Given the description of an element on the screen output the (x, y) to click on. 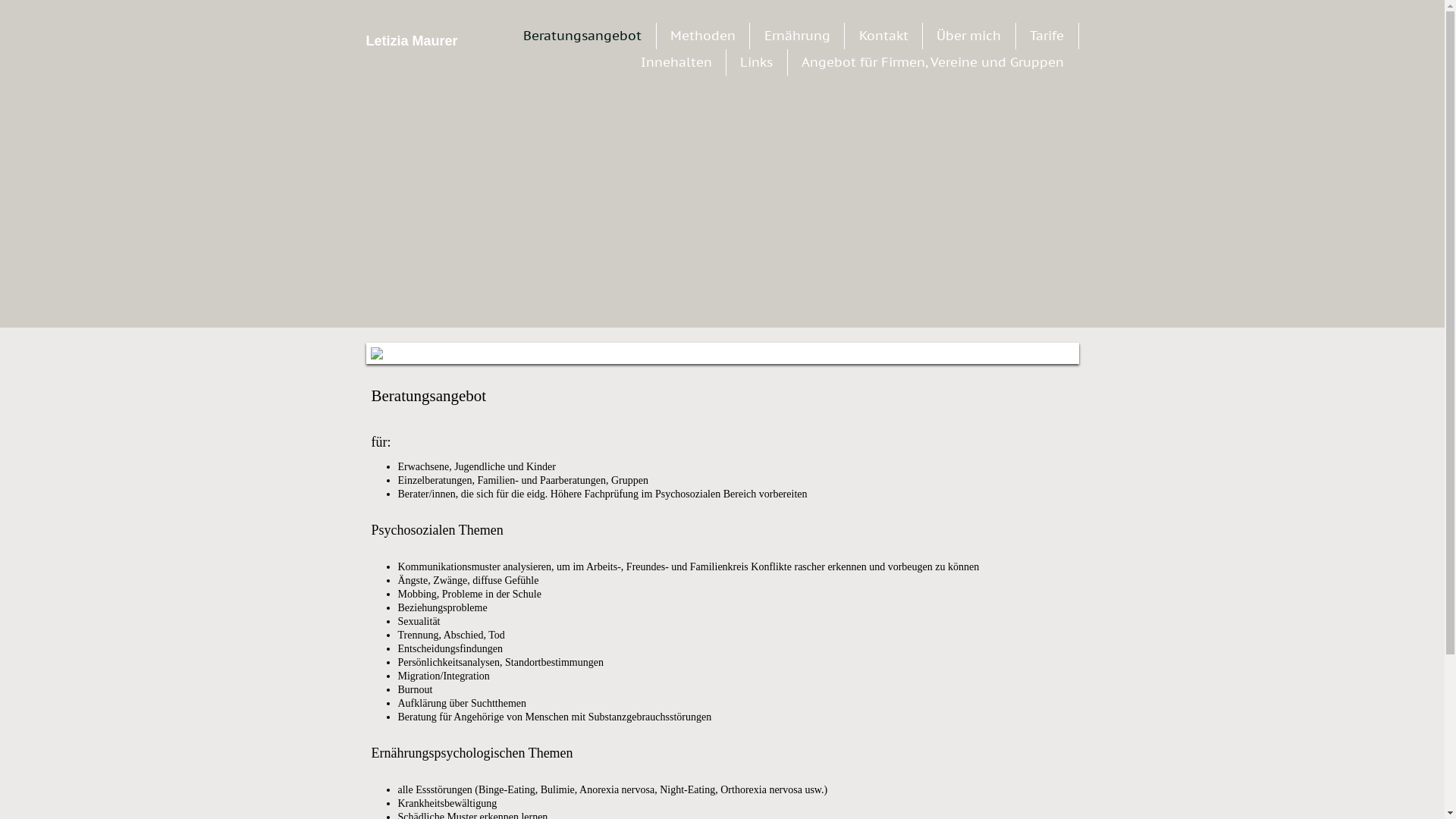
Links Element type: text (756, 62)
Methoden Element type: text (702, 35)
Letizia Maurer
              Element type: text (425, 171)
Innehalten Element type: text (676, 62)
Beratungsangebot Element type: text (582, 35)
Tarife Element type: text (1046, 35)
Kontakt Element type: text (883, 35)
